Given the description of an element on the screen output the (x, y) to click on. 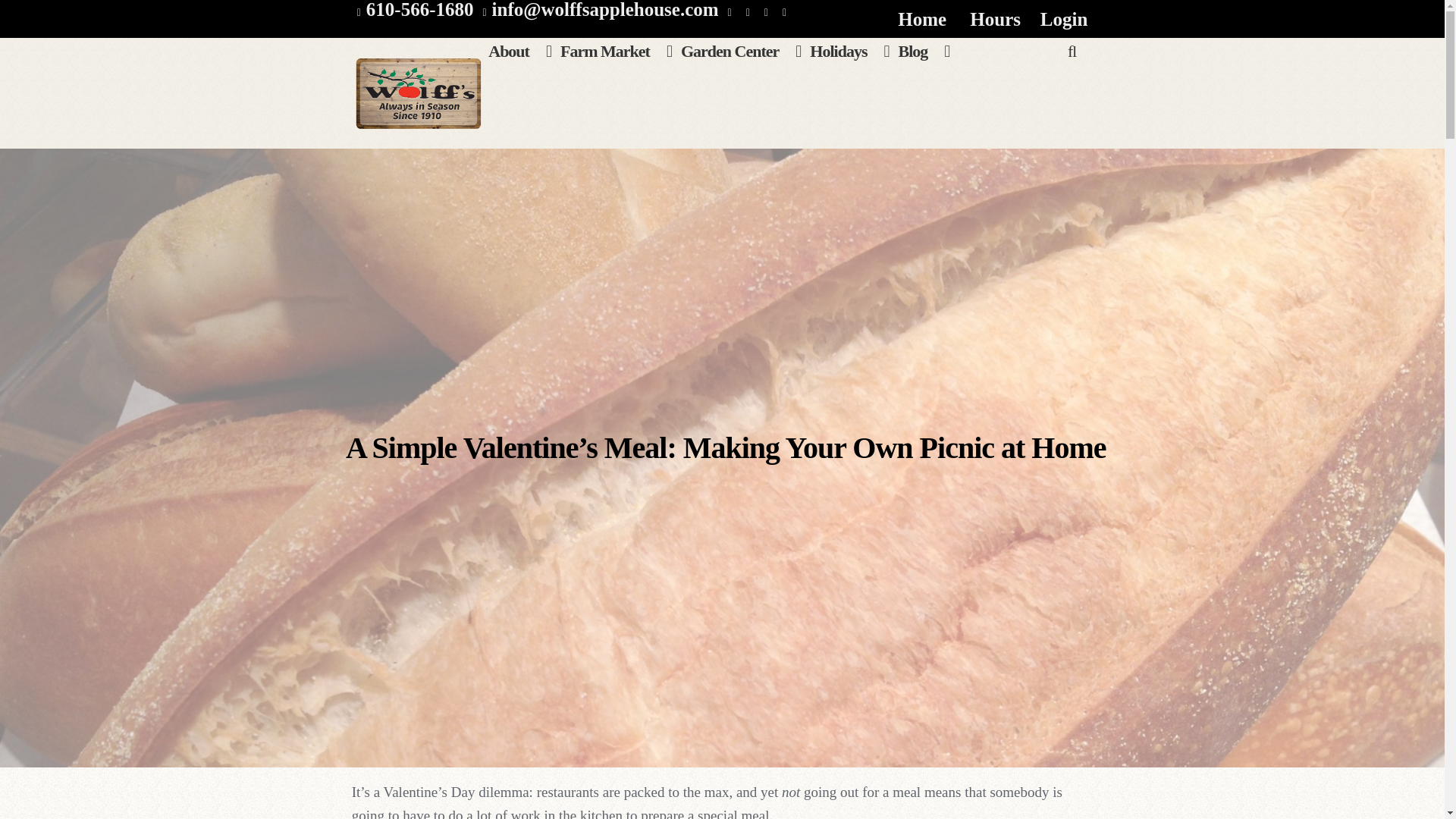
Login (1064, 19)
Farm Market (616, 69)
610-566-1680 (413, 9)
Blog (924, 69)
Garden Center (741, 69)
Home (922, 18)
Holidays (849, 69)
Hours (995, 18)
About (519, 69)
